Given the description of an element on the screen output the (x, y) to click on. 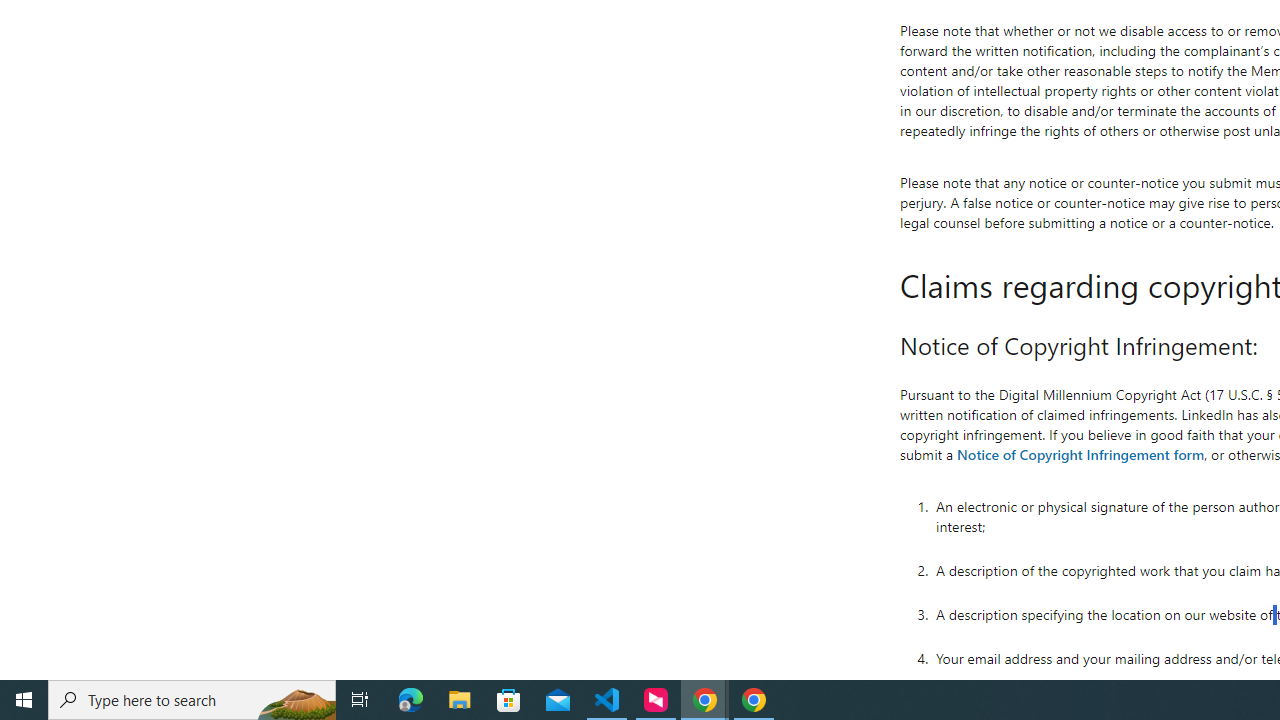
Notice of Copyright Infringement form (1080, 453)
